Given the description of an element on the screen output the (x, y) to click on. 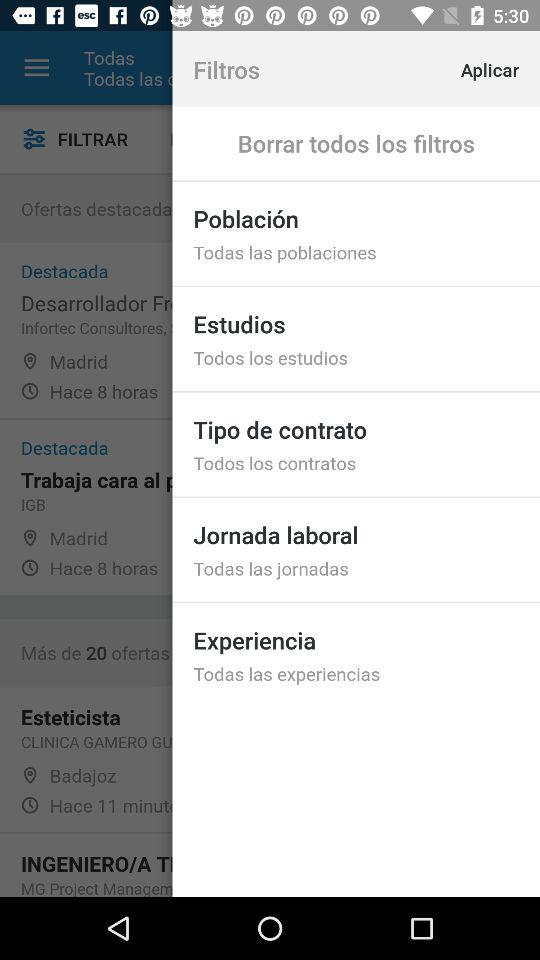
open item next to the todas item (36, 68)
